Given the description of an element on the screen output the (x, y) to click on. 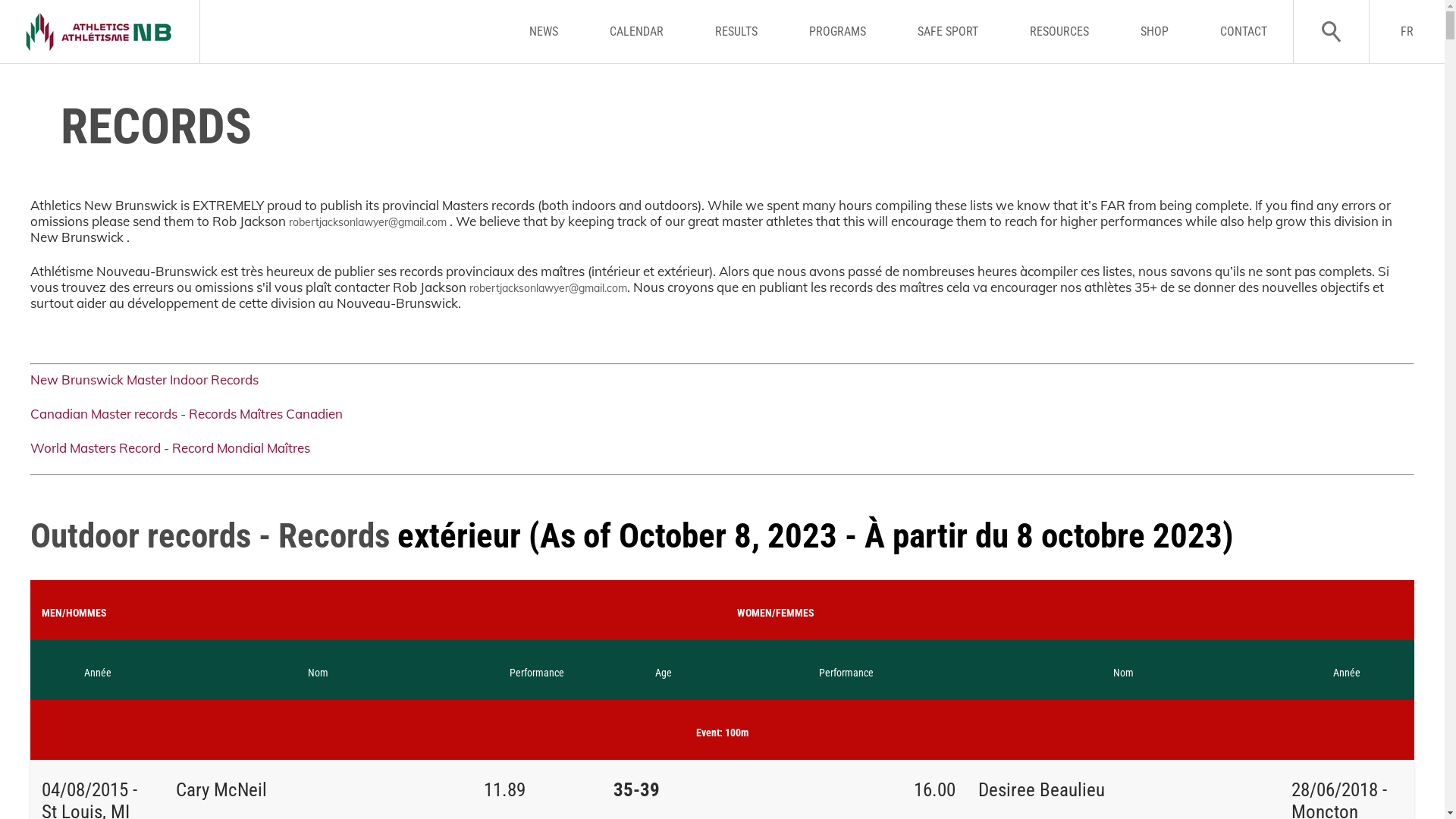
CONTACT Element type: text (1243, 31)
PROGRAMS Element type: text (837, 31)
SHOP Element type: text (1154, 31)
RESULTS Element type: text (736, 31)
NEWS Element type: text (543, 31)
New Brunswick Master Indoor Records Element type: text (144, 379)
SAFE SPORT Element type: text (947, 31)
CALENDAR Element type: text (636, 31)
RESOURCES Element type: text (1059, 31)
FR Element type: text (1406, 31)
Athletics New Brunswick Element type: hover (100, 31)
